Given the description of an element on the screen output the (x, y) to click on. 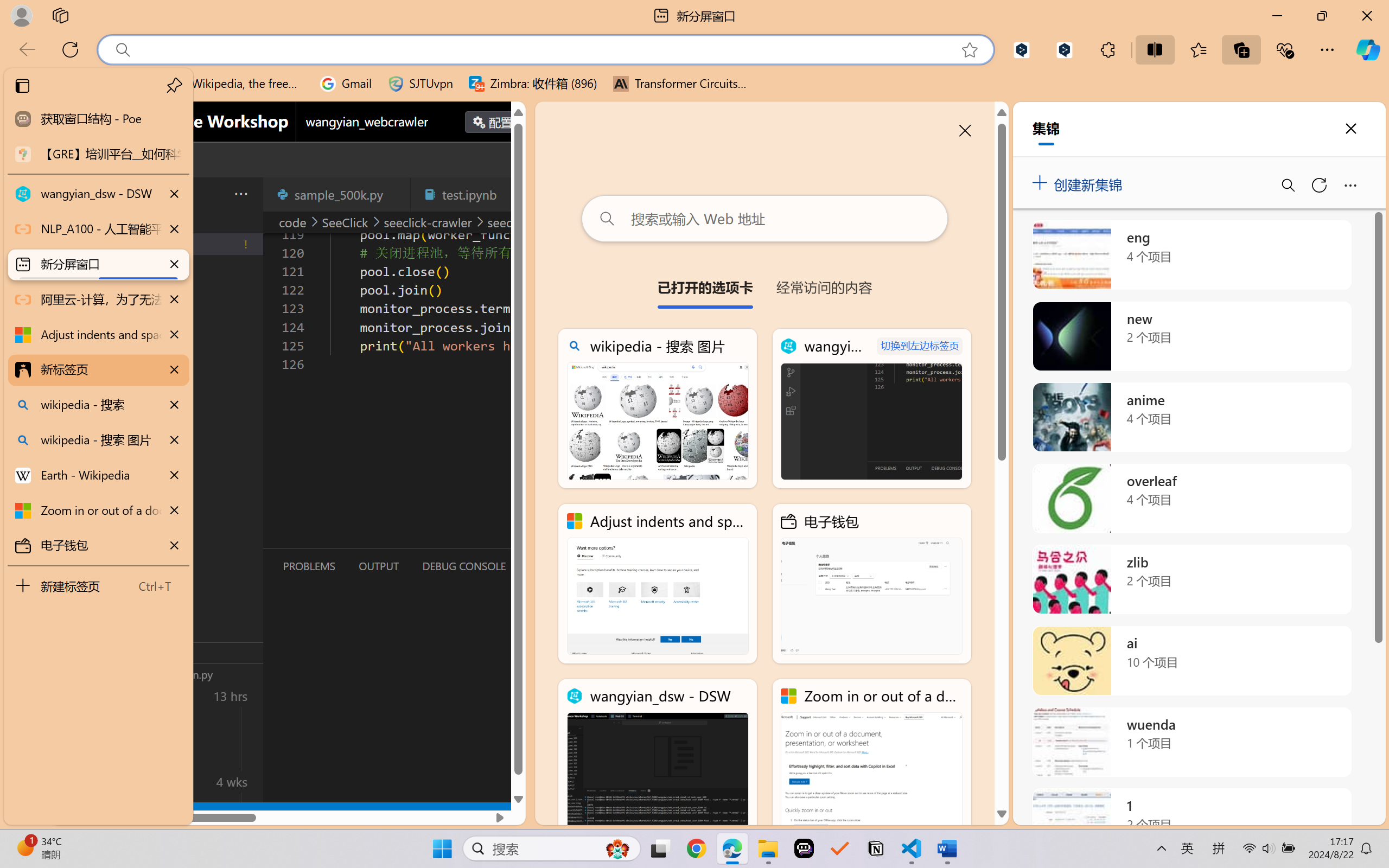
Wikipedia, the free encyclopedia (236, 83)
Class: menubar compact overflow-menu-only (73, 194)
Problems (Ctrl+Shift+M) (308, 565)
Tab actions (512, 194)
